Given the description of an element on the screen output the (x, y) to click on. 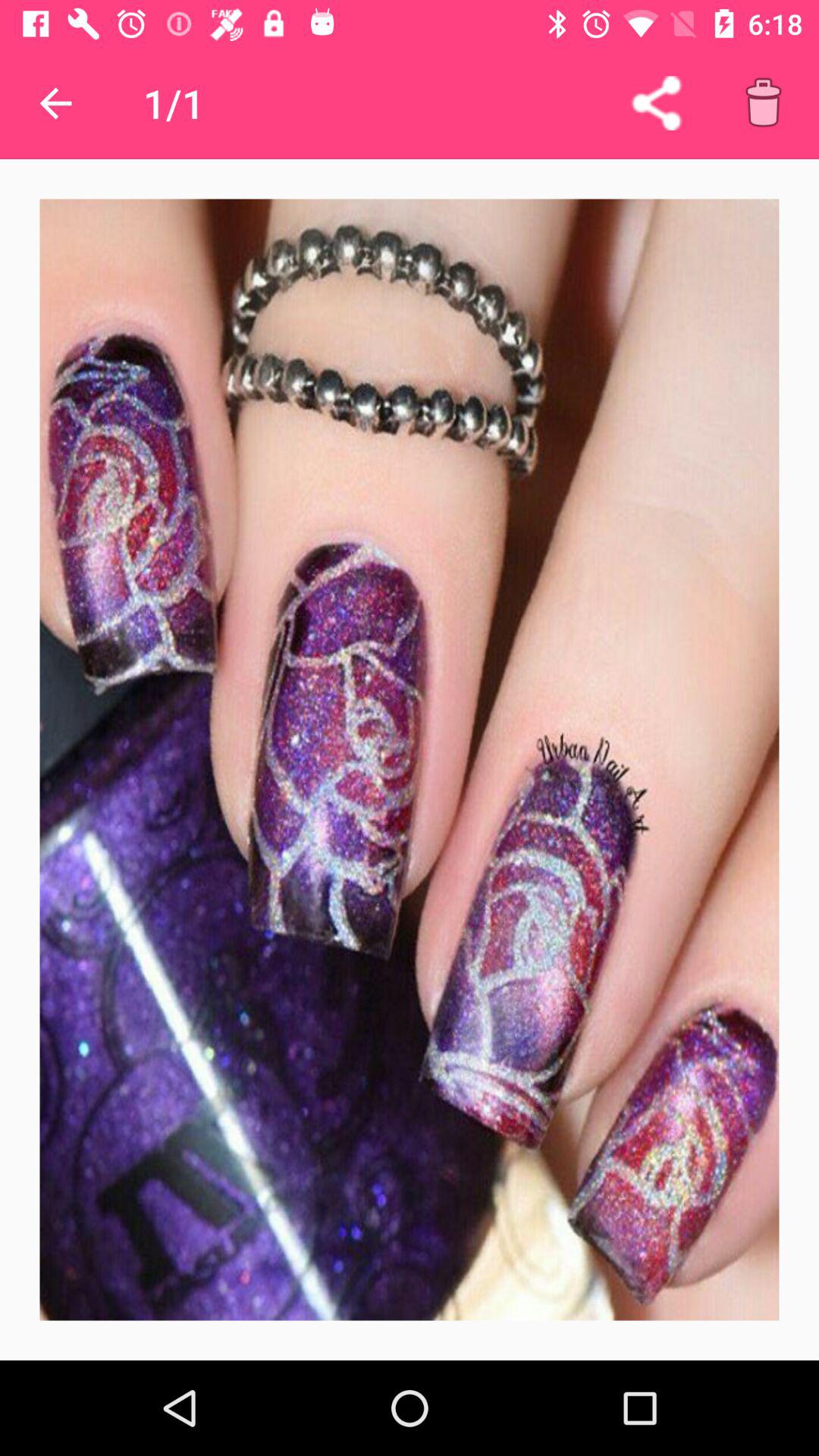
share image (656, 103)
